Given the description of an element on the screen output the (x, y) to click on. 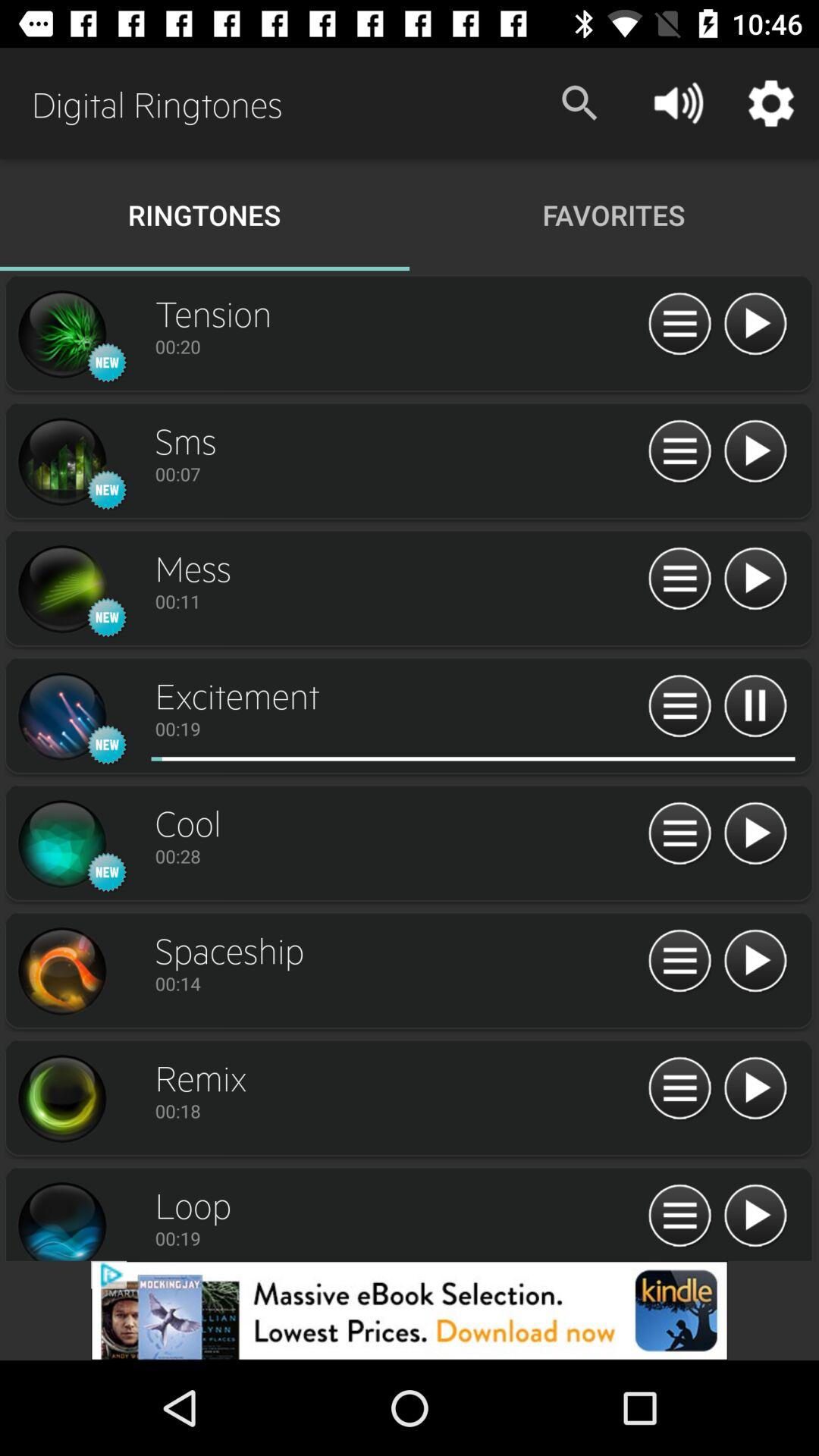
menu (679, 451)
